Given the description of an element on the screen output the (x, y) to click on. 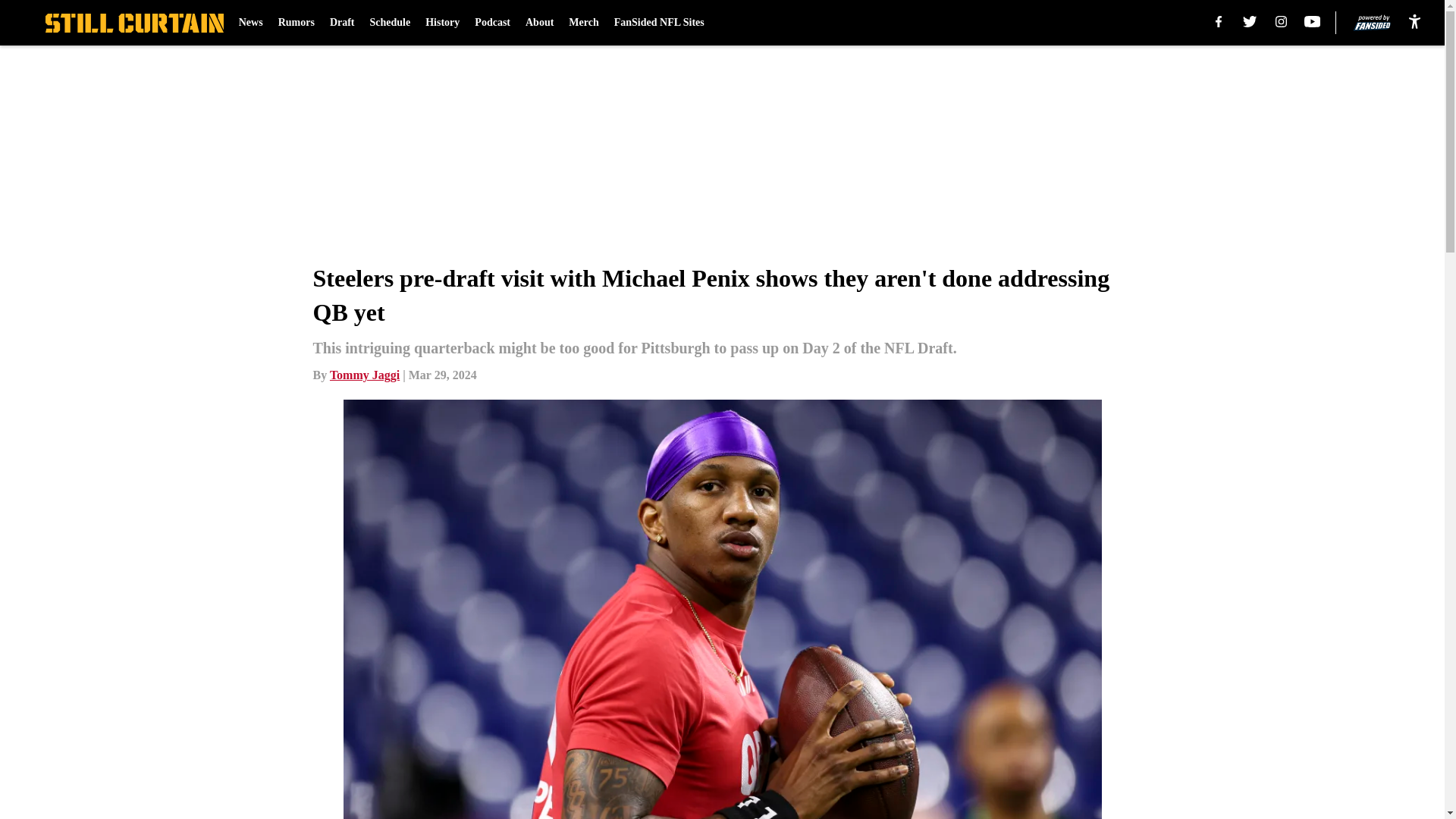
About (539, 22)
Rumors (296, 22)
FanSided NFL Sites (659, 22)
Draft (342, 22)
News (250, 22)
Schedule (389, 22)
Podcast (492, 22)
Merch (583, 22)
Tommy Jaggi (364, 374)
